Given the description of an element on the screen output the (x, y) to click on. 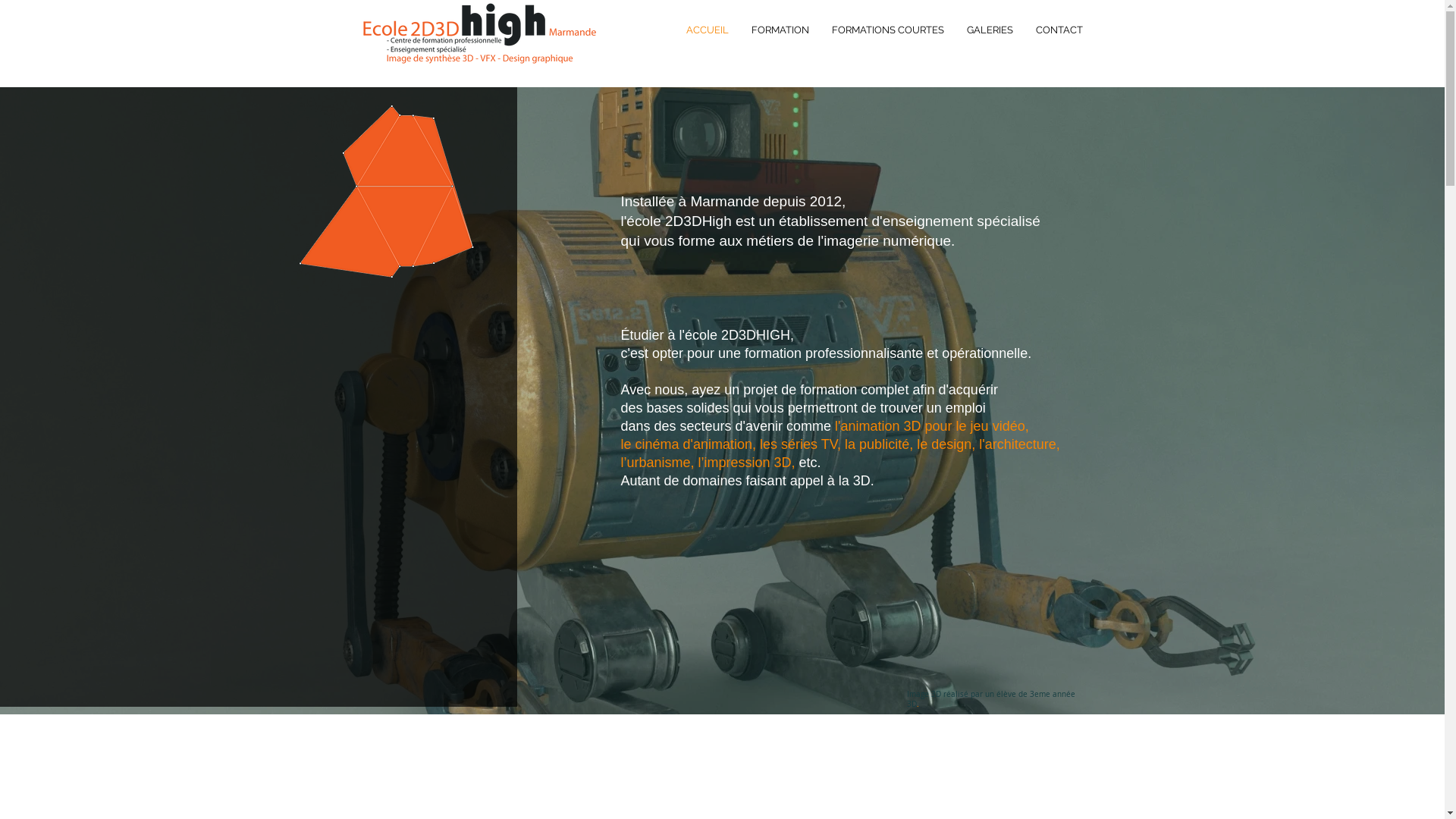
FORMATION Element type: text (780, 29)
FORMATIONS COURTES Element type: text (887, 29)
CONTACT Element type: text (1058, 29)
ACCUEIL Element type: text (707, 29)
GALERIES Element type: text (989, 29)
